Given the description of an element on the screen output the (x, y) to click on. 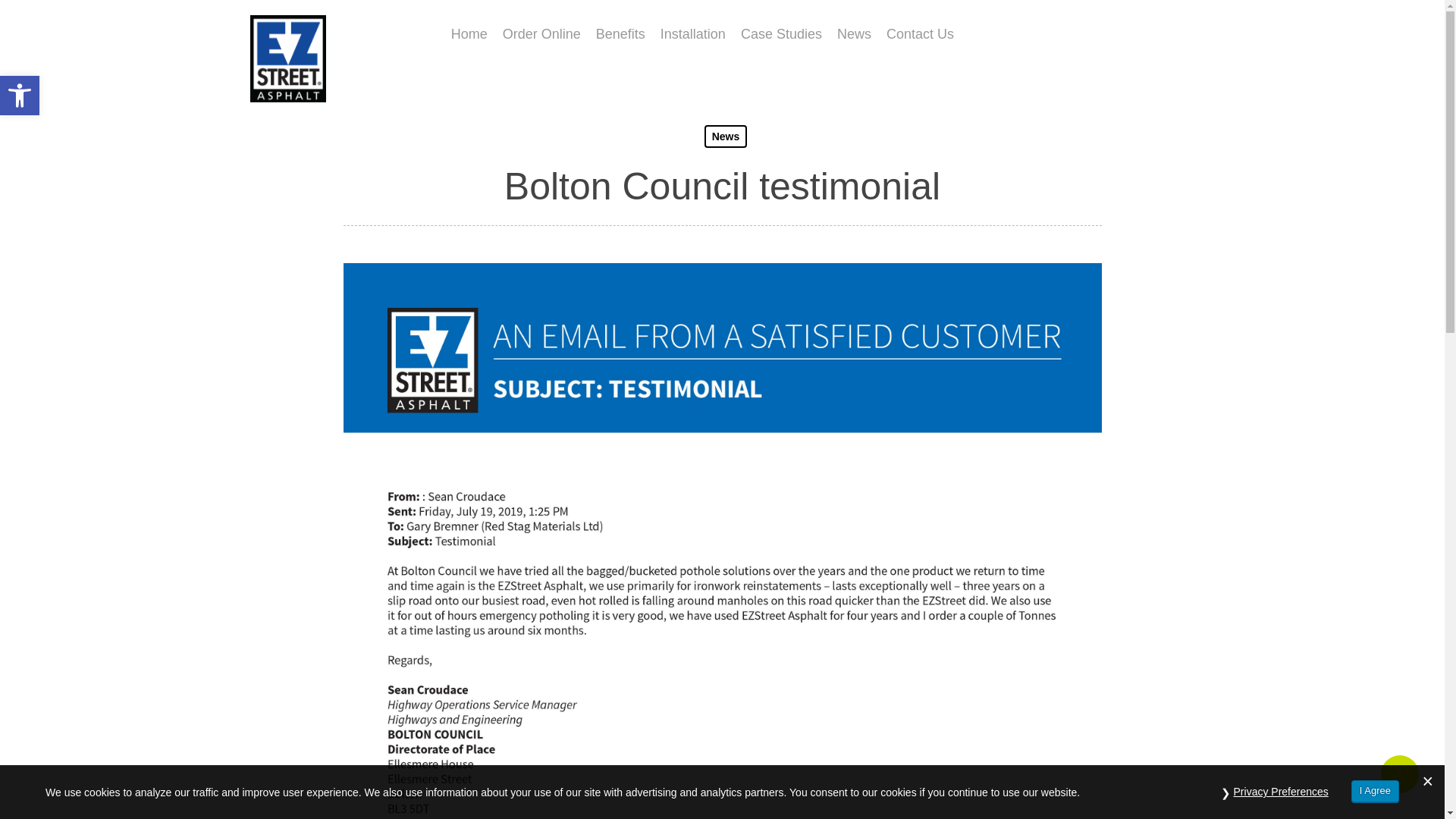
Accessibility Tools (19, 95)
News (853, 33)
News (726, 136)
Order Online (541, 33)
Home (19, 95)
Accessibility Tools (469, 33)
Case Studies (19, 95)
Benefits (781, 33)
Installation (620, 33)
